Given the description of an element on the screen output the (x, y) to click on. 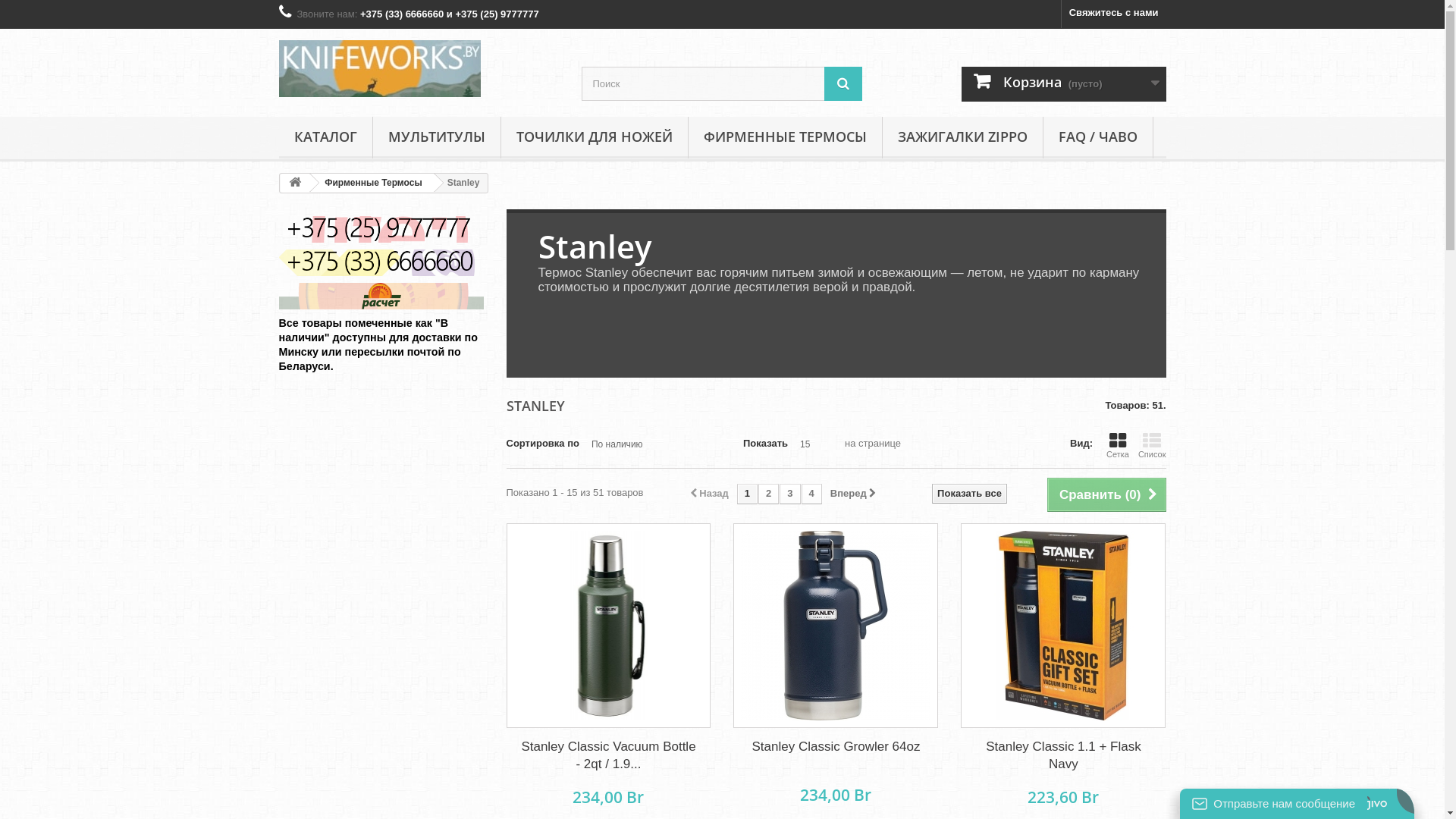
Stanley Classic 1.1 + Flask Navy Element type: hover (1062, 625)
Stanley Classic Growler 64oz Element type: text (835, 746)
Stanley Classic 1.1 + Flask Navy Element type: text (1063, 754)
3 Element type: text (789, 493)
2 Element type: text (768, 493)
4 Element type: text (811, 493)
Knifeworks.by Element type: hover (419, 68)
Stanley Classic Vacuum Bottle - 2qt / 1.9... Element type: text (608, 754)
Stanley Classic Growler 64oz Element type: hover (835, 625)
